Given the description of an element on the screen output the (x, y) to click on. 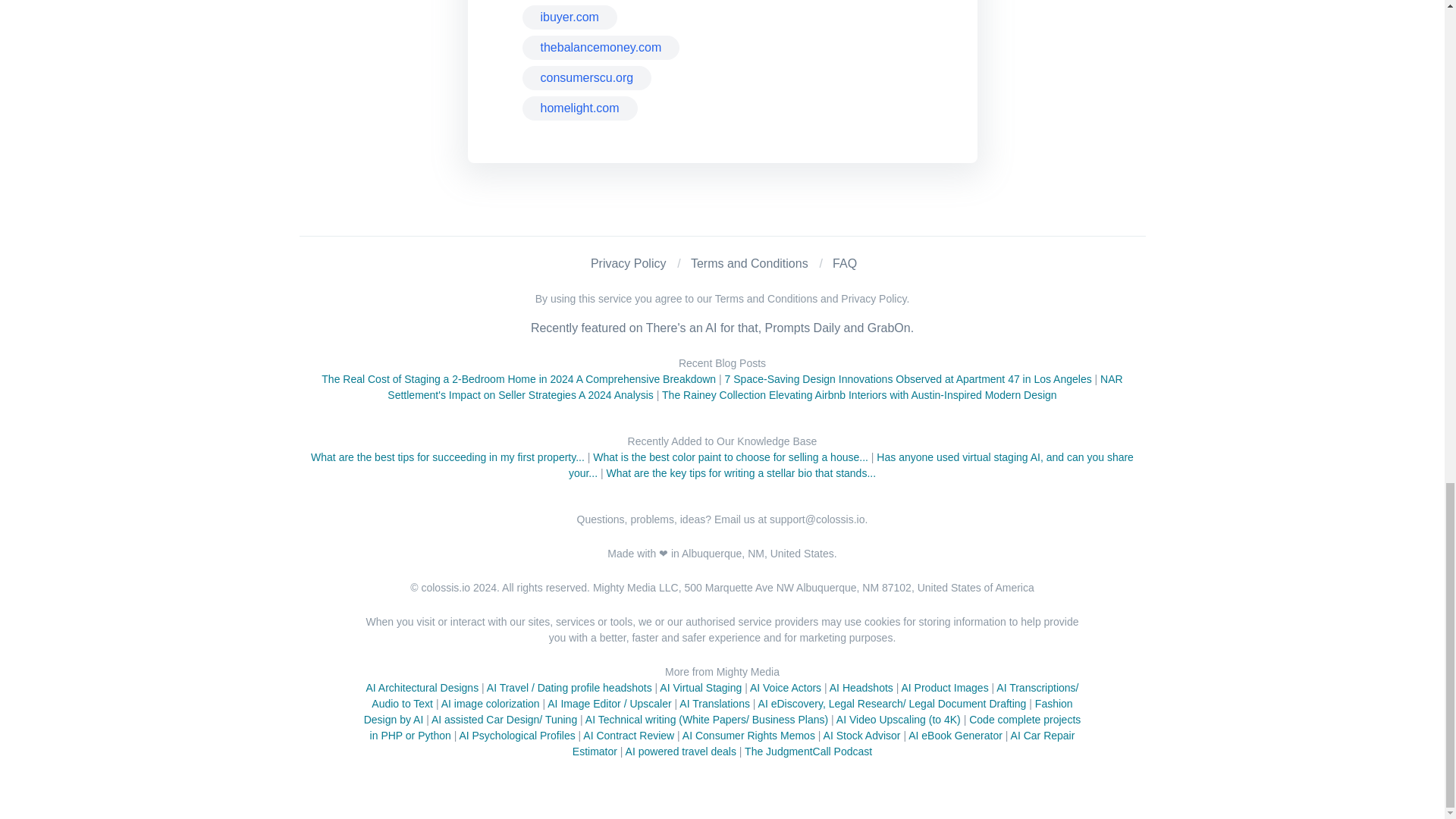
AI Virtual Staging (700, 687)
thebalancemoney.com (600, 47)
Privacy Policy (628, 263)
AI Translations (714, 703)
AI image colorization (490, 703)
ibuyer.com (568, 16)
homelight.com (579, 108)
AI Voice Actors (785, 687)
Code complete projects in PHP or Python (725, 727)
consumerscu.org (585, 78)
